Given the description of an element on the screen output the (x, y) to click on. 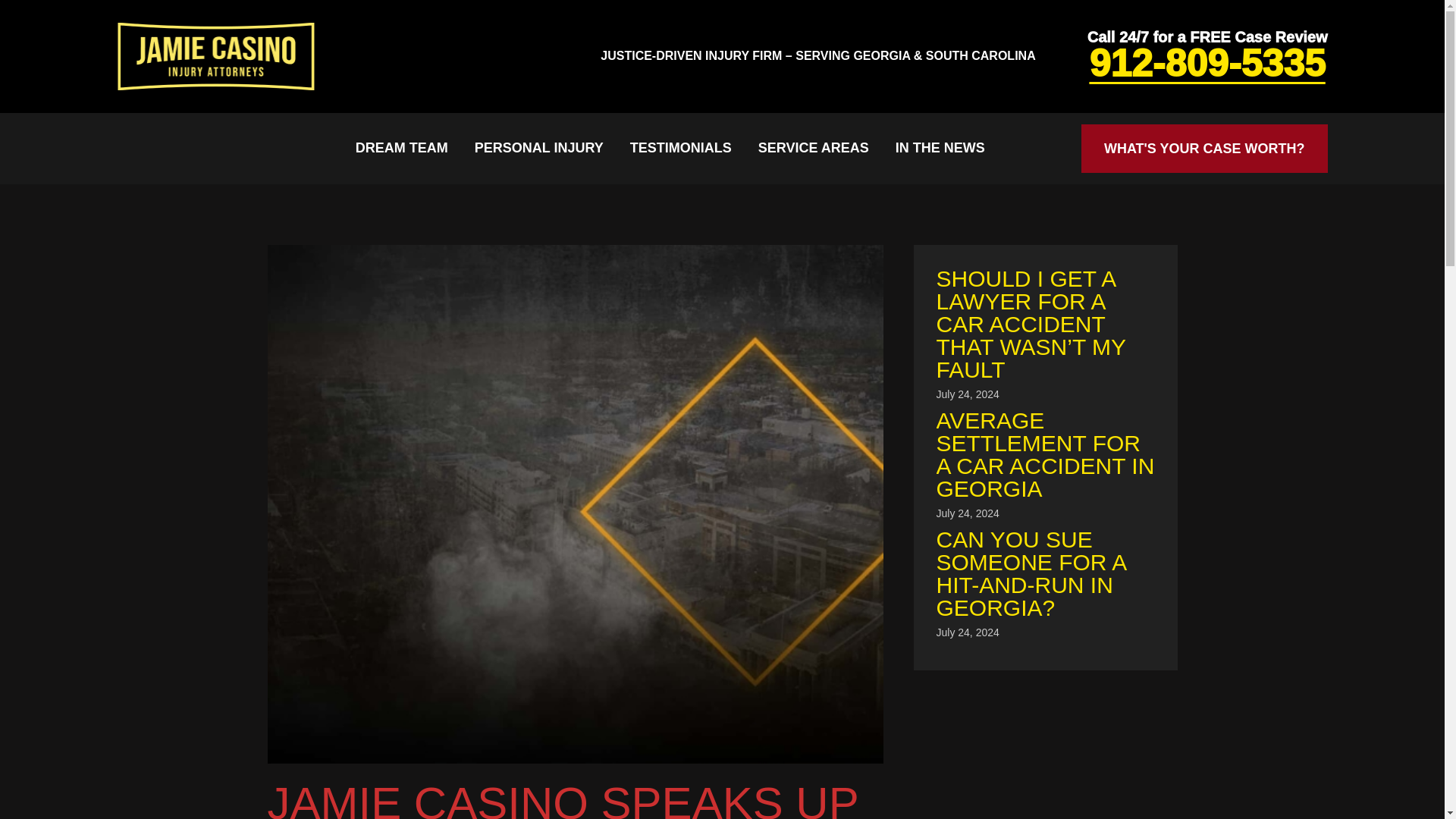
PERSONAL INJURY (539, 147)
DREAM TEAM (401, 147)
912-809-5335 (1207, 63)
